Given the description of an element on the screen output the (x, y) to click on. 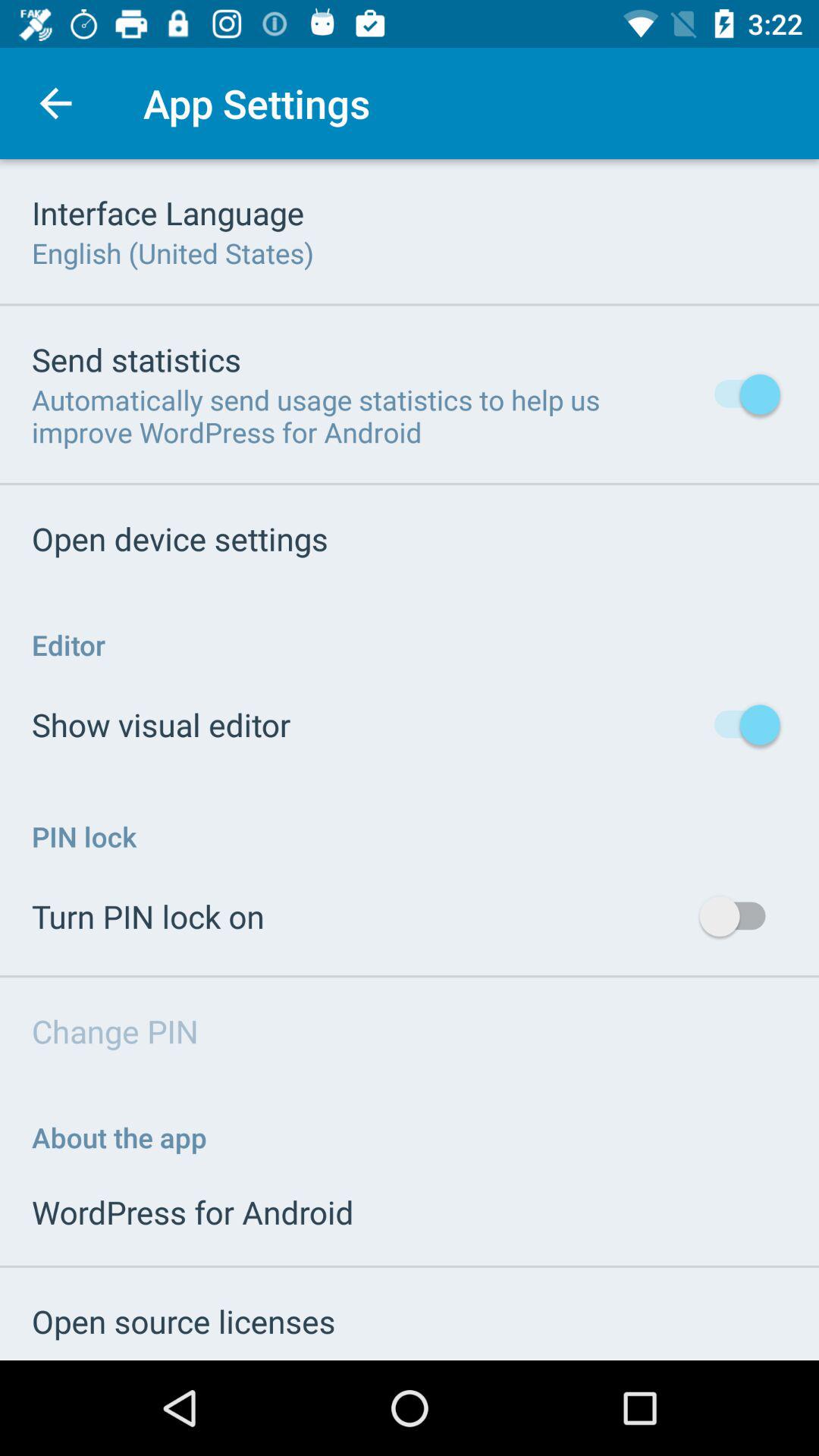
launch the icon to the left of the app settings icon (55, 103)
